Given the description of an element on the screen output the (x, y) to click on. 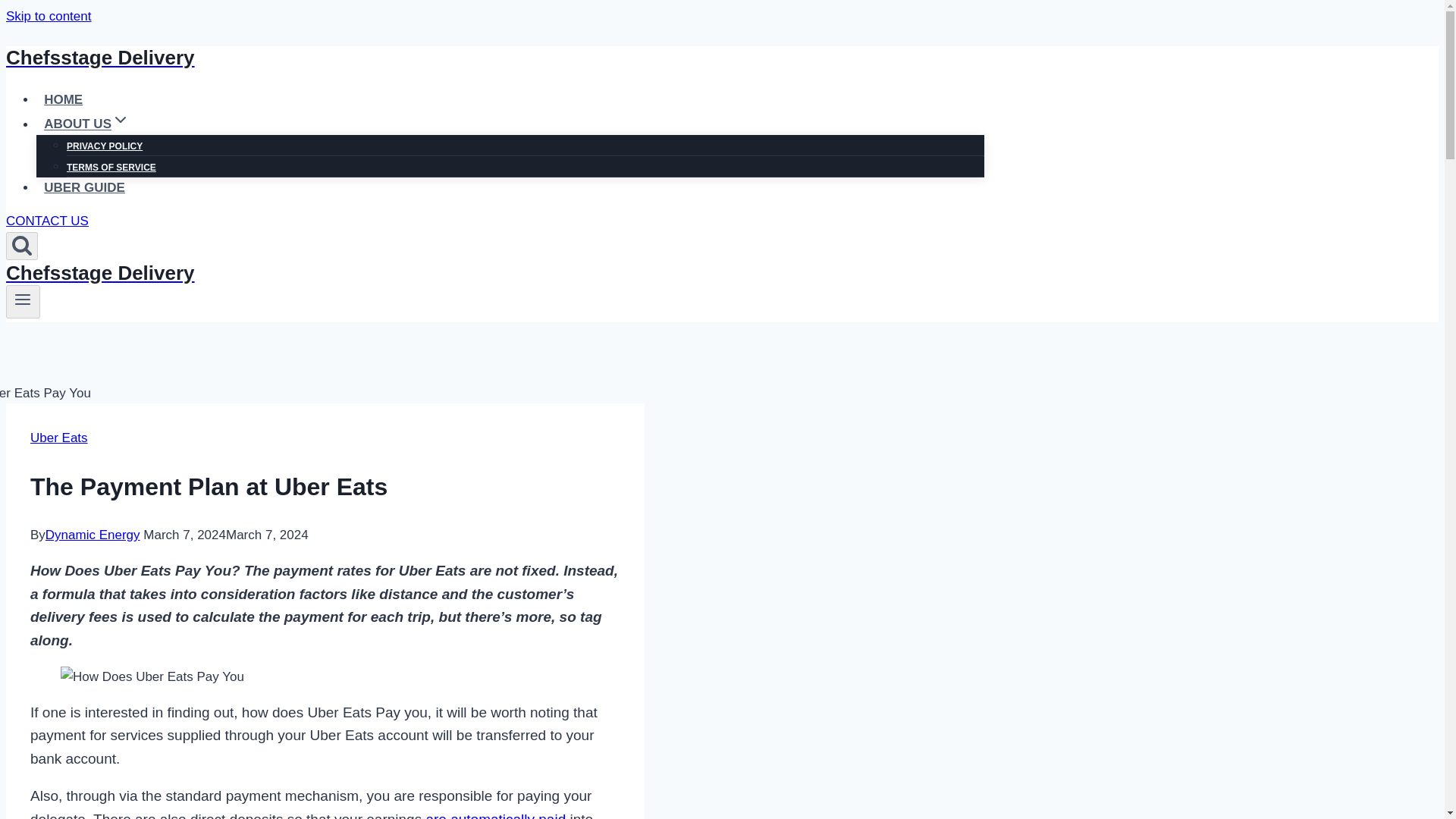
Uber Eats (58, 437)
Skip to content (47, 16)
Chefsstage Delivery (494, 273)
Search (21, 245)
UBER GUIDE (84, 187)
Dynamic Energy (92, 534)
EXPAND (120, 119)
Skip to content (47, 16)
Chefsstage Delivery (494, 57)
TERMS OF SERVICE (110, 167)
CONTACT US (46, 220)
ABOUT USEXPAND (86, 123)
PRIVACY POLICY (104, 145)
Search (21, 243)
Toggle Menu (22, 299)
